Given the description of an element on the screen output the (x, y) to click on. 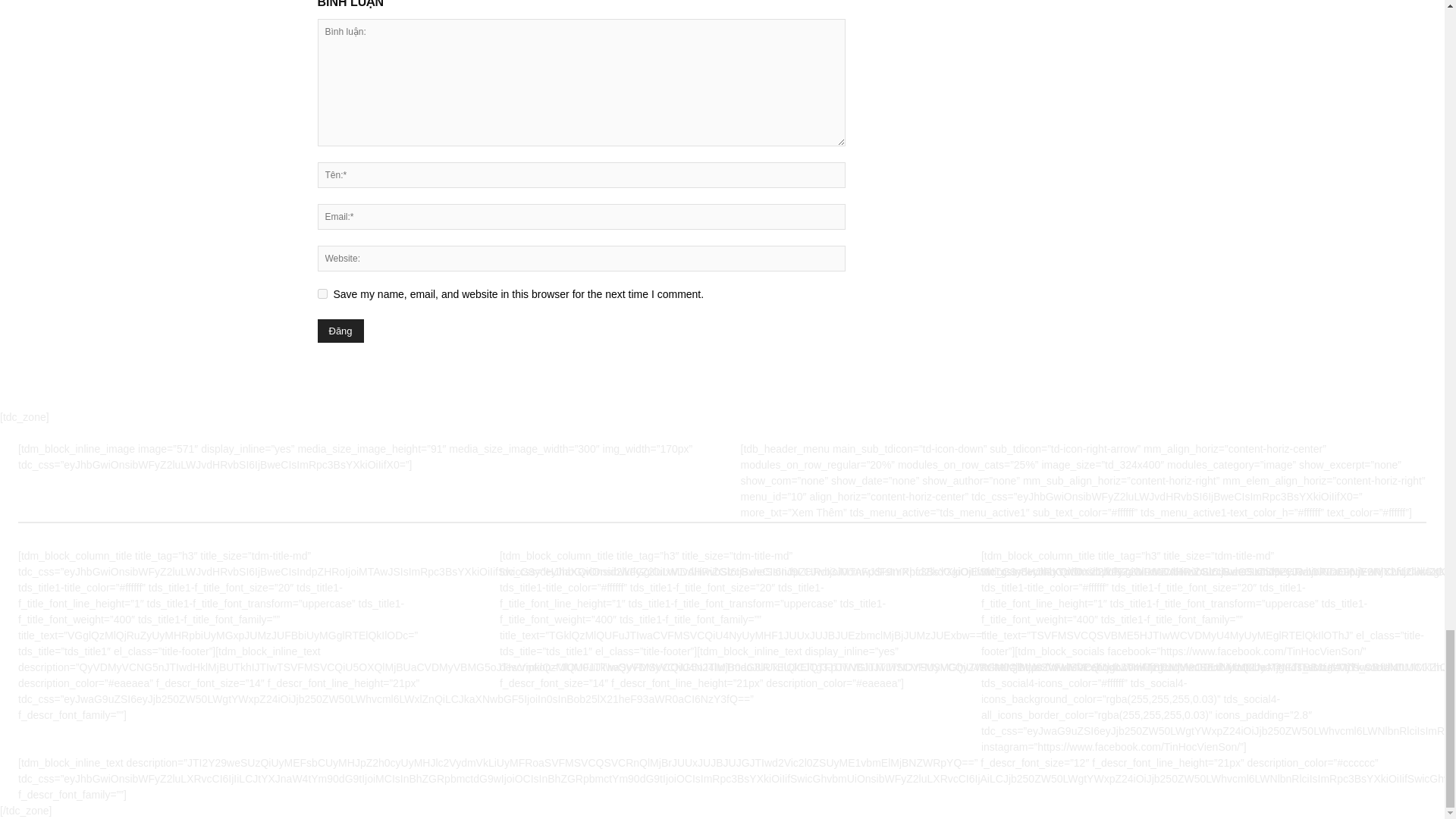
yes (321, 293)
